Given the description of an element on the screen output the (x, y) to click on. 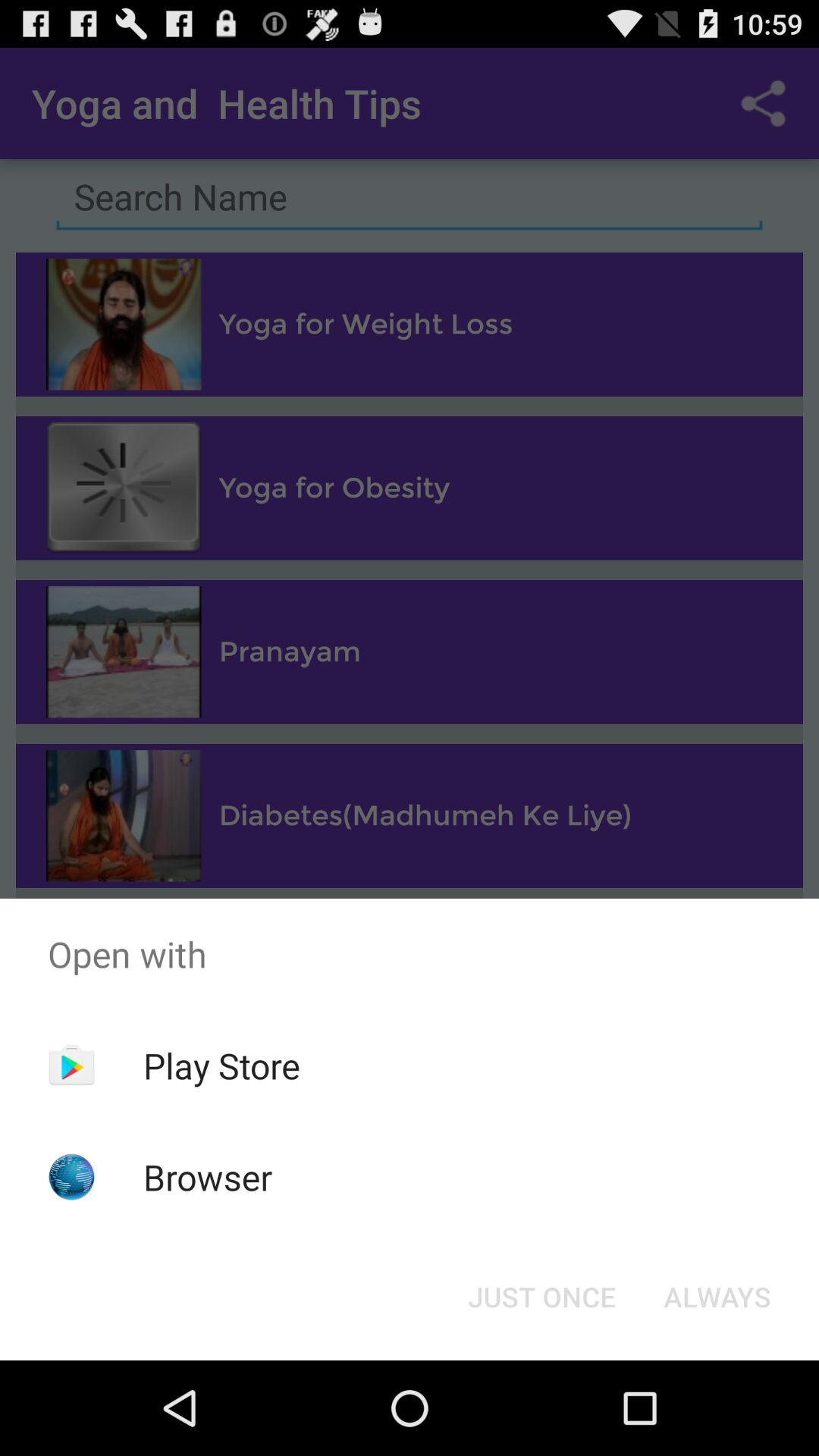
swipe until play store app (221, 1065)
